Given the description of an element on the screen output the (x, y) to click on. 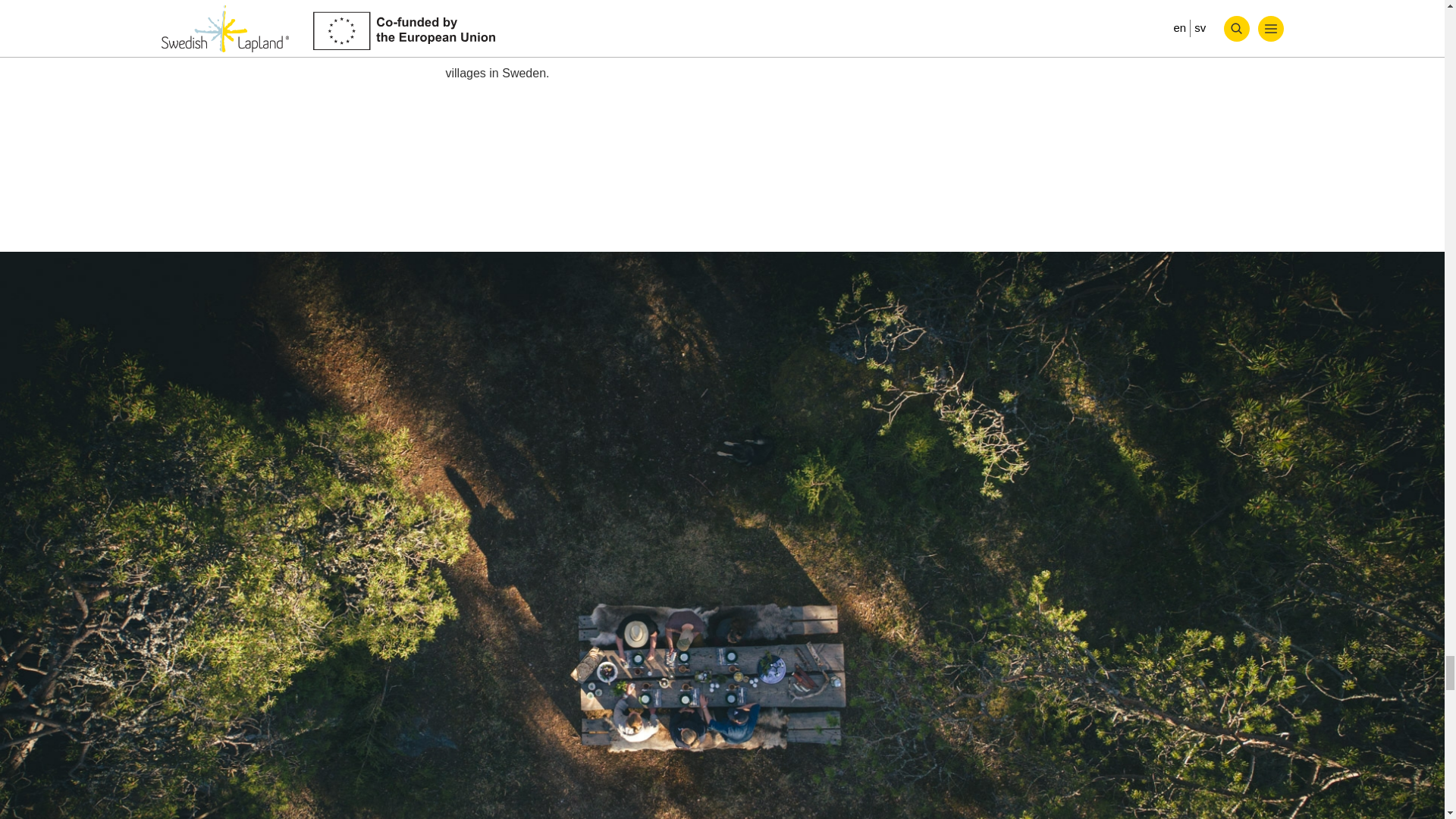
View full-screen (1410, 209)
